Given the description of an element on the screen output the (x, y) to click on. 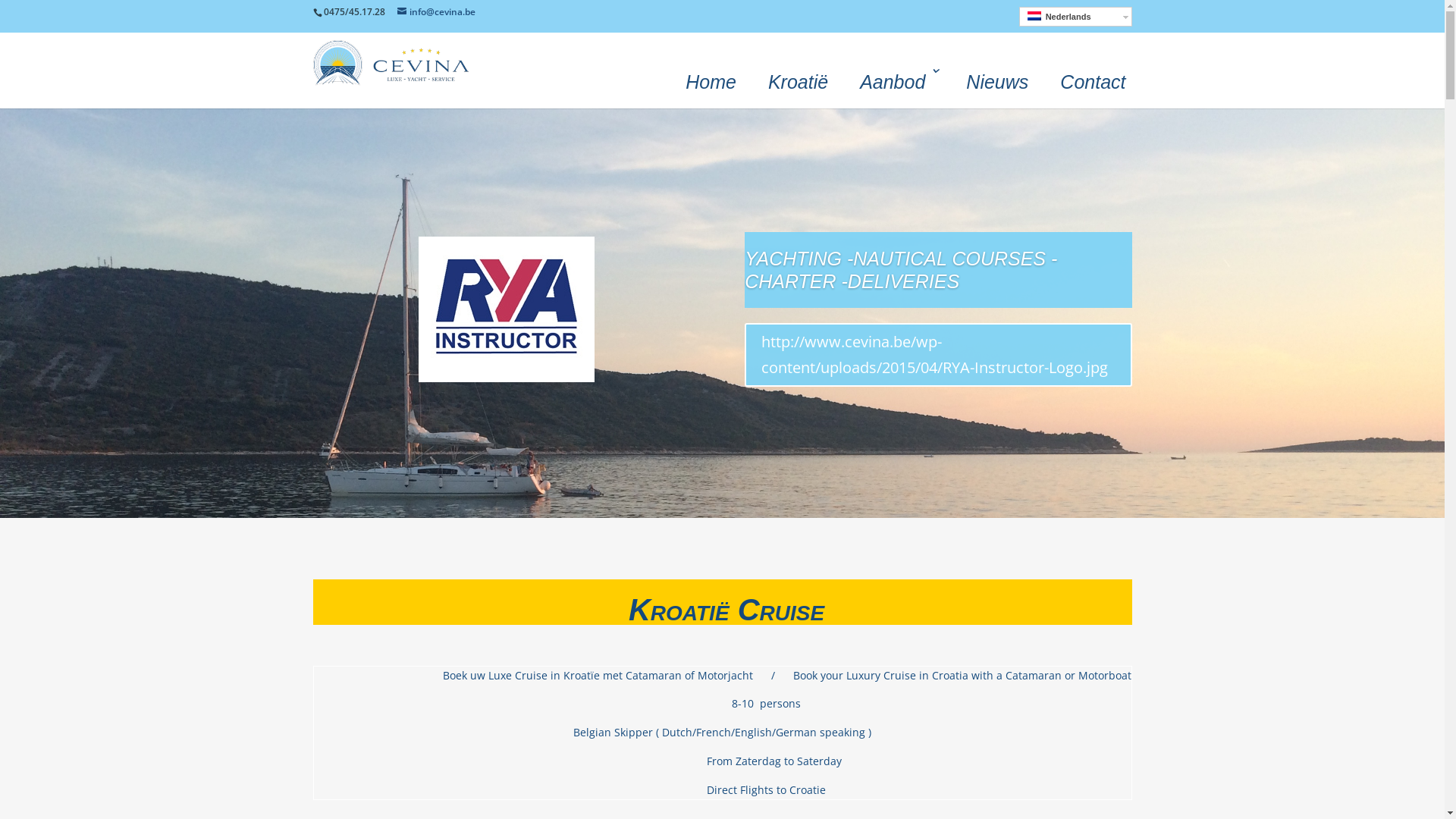
Aanbod Element type: text (896, 79)
Nederlands Element type: hover (1033, 15)
Home Element type: text (710, 79)
 Nederlands Element type: text (1075, 16)
Nieuws Element type: text (997, 79)
Contact Element type: text (1092, 79)
info@cevina.be Element type: text (436, 11)
